Given the description of an element on the screen output the (x, y) to click on. 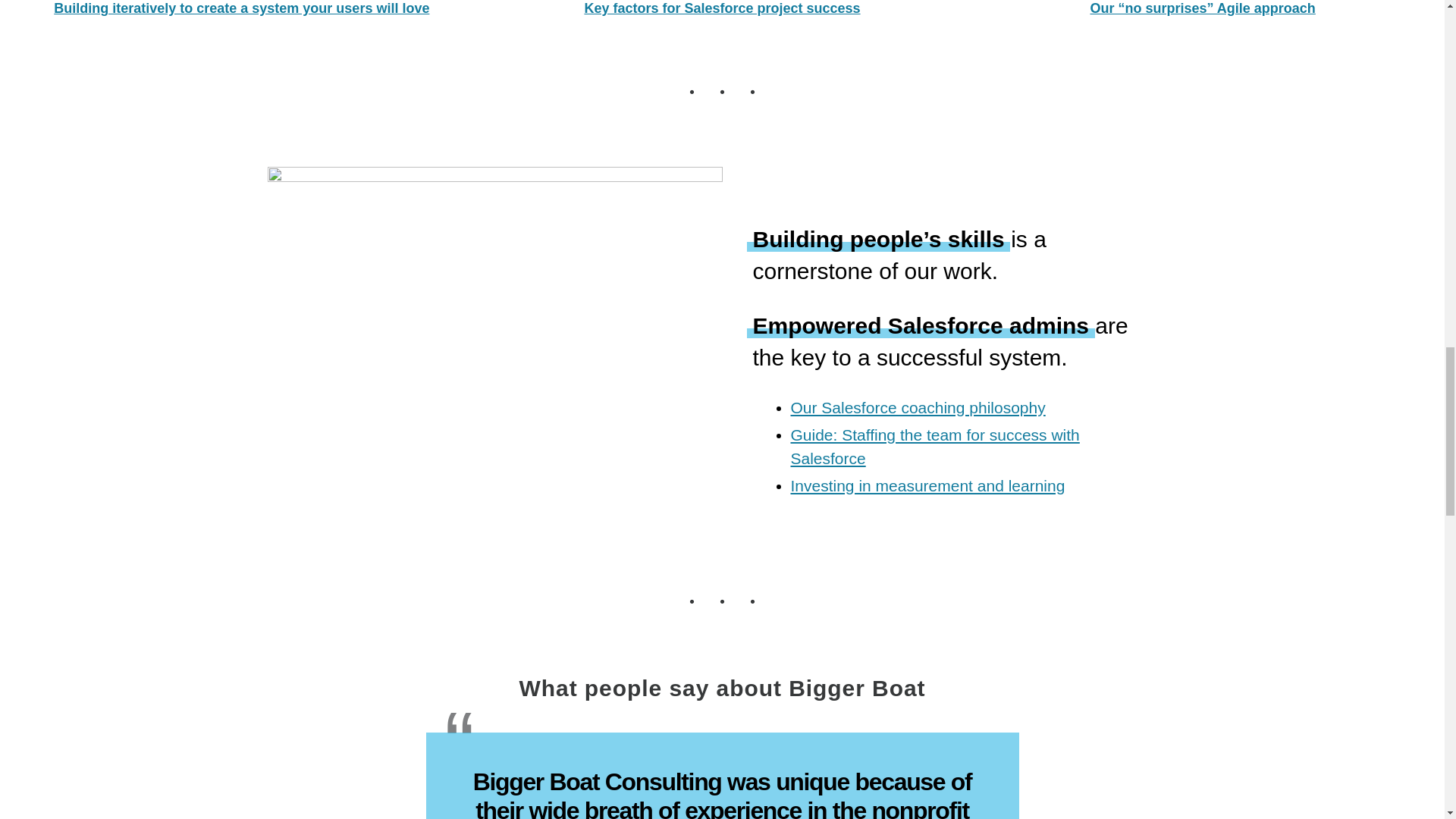
Investing in measurement and learning (927, 485)
Guide: Staffing the team for success with Salesforce (934, 445)
Our Salesforce coaching philosophy (917, 407)
Building iteratively to create a system your users will love (241, 7)
Key factors for Salesforce project success (721, 7)
